Given the description of an element on the screen output the (x, y) to click on. 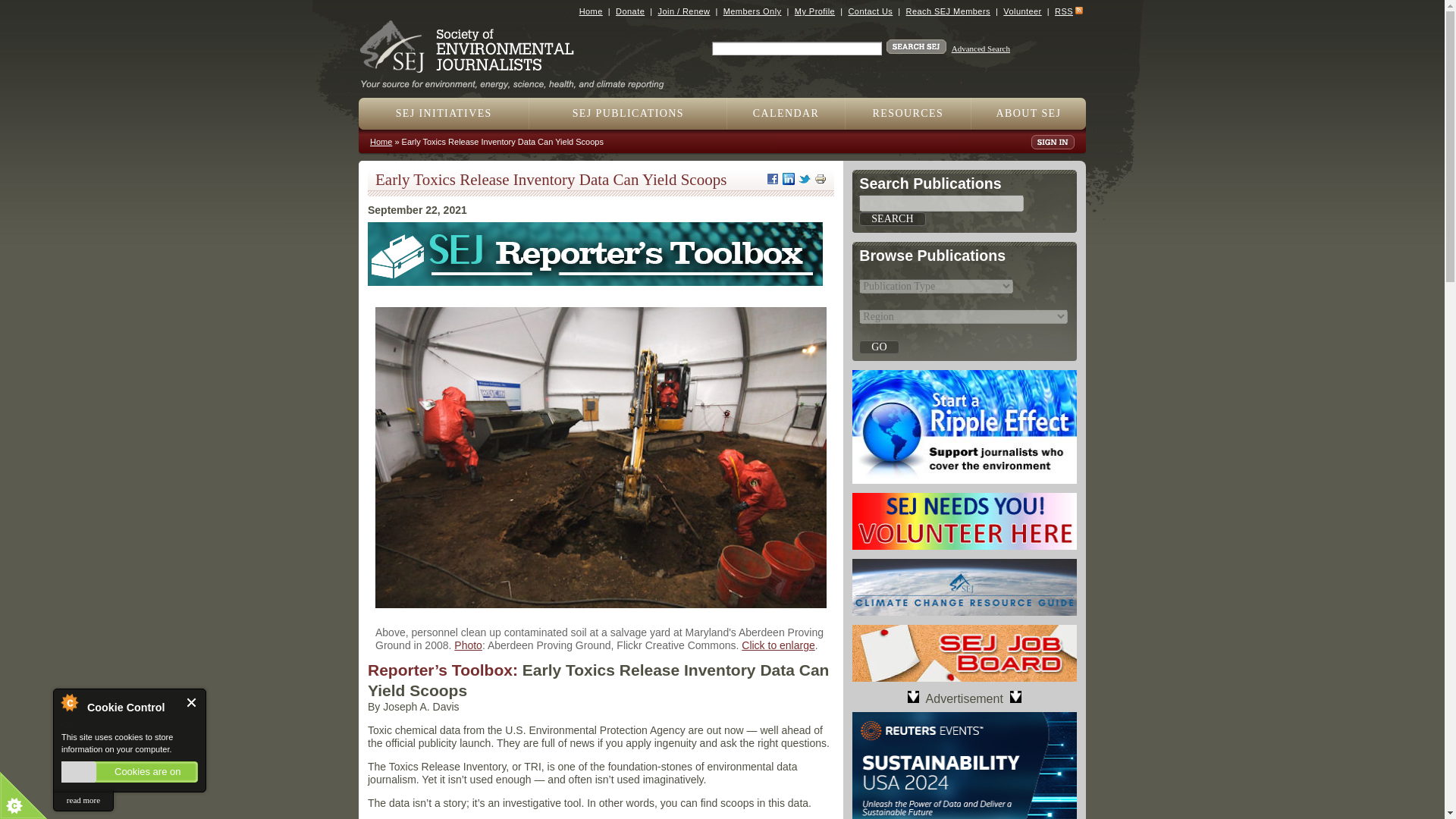
SEJ INITIATIVES (443, 113)
Home (590, 10)
Members Only (752, 10)
read more (82, 801)
SEJ PUBLICATIONS (627, 113)
Contact Us (869, 10)
Advanced Search (981, 48)
Close (191, 702)
Volunteer (1022, 10)
Go (878, 346)
